Given the description of an element on the screen output the (x, y) to click on. 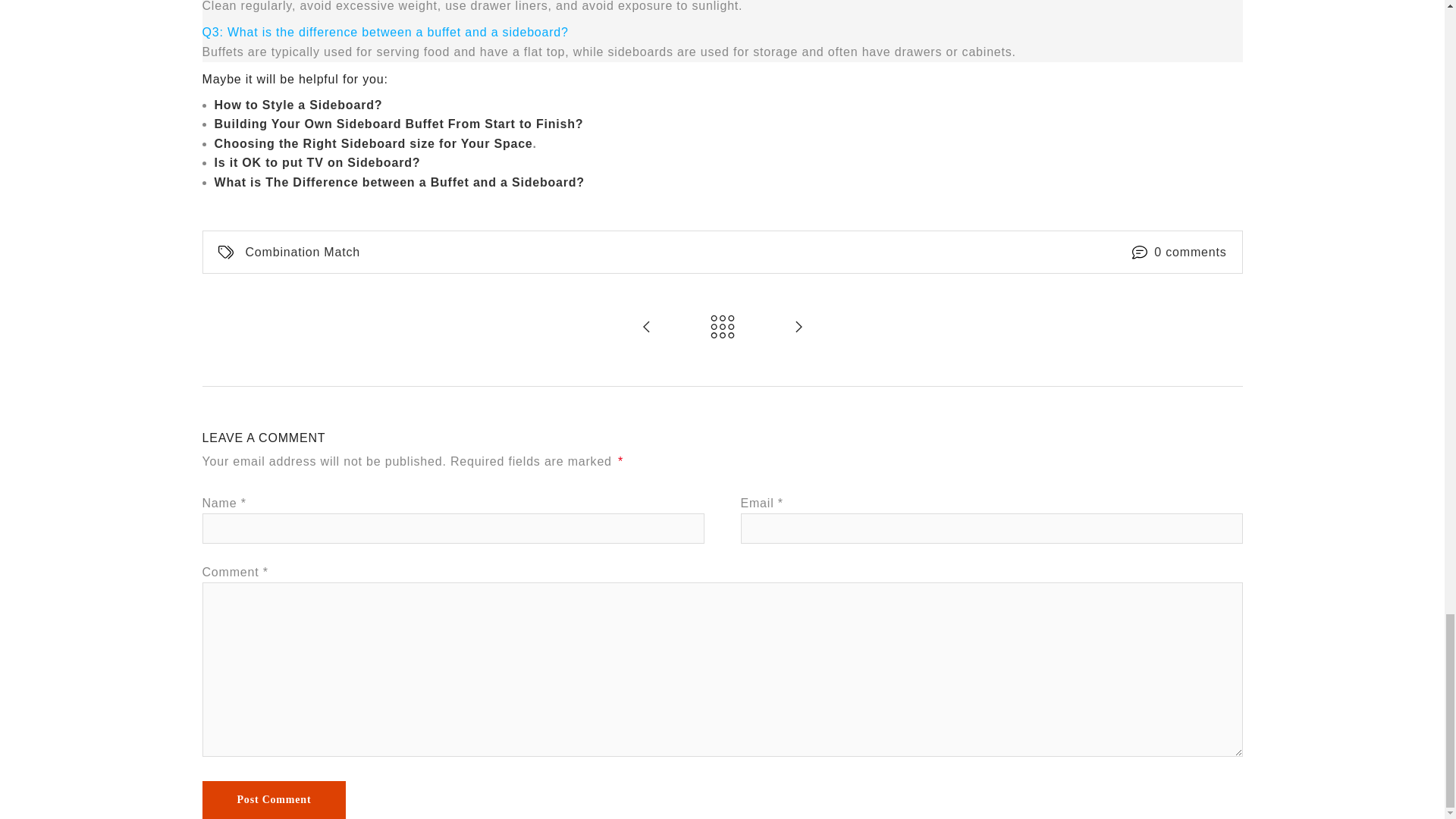
Is it OK to put TV on Sideboard? (317, 162)
Combination Match (302, 252)
How to Style a Sideboard? (297, 105)
What is The Difference between a Buffet and a Sideboard? (398, 182)
How to Choose Accent Chair Color? (646, 327)
Back to News (722, 327)
0 comments (1189, 252)
Building Your Own Sideboard Buffet From Start to Finish? (398, 124)
Choosing the Right Sideboard size for Your Space (373, 143)
